Given the description of an element on the screen output the (x, y) to click on. 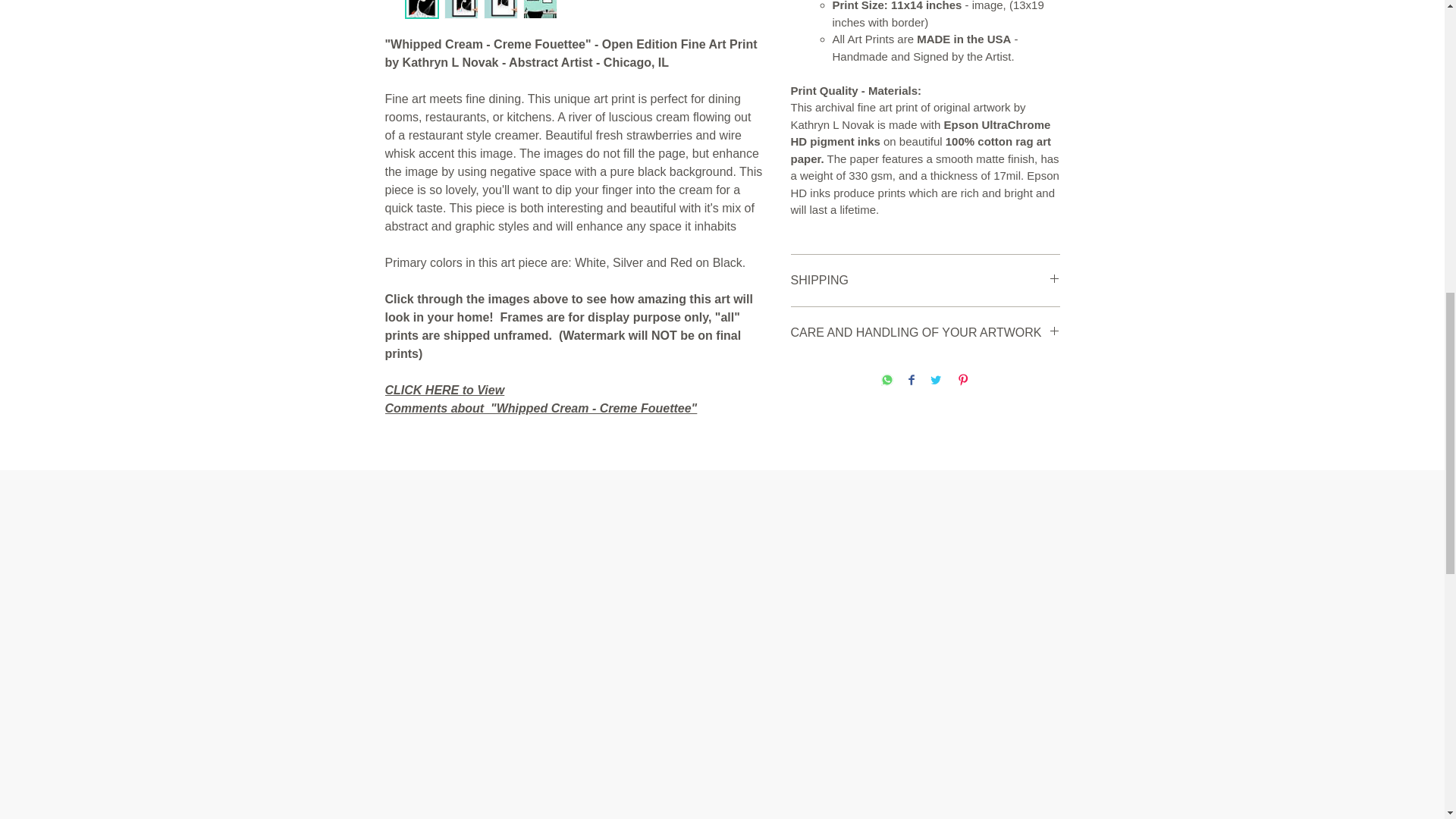
CARE AND HANDLING OF YOUR ARTWORK (924, 332)
SHIPPING (924, 280)
Comments (416, 408)
about  "Whipped Cream - Creme Fouettee" (574, 408)
CLICK HERE to View (445, 390)
